Given the description of an element on the screen output the (x, y) to click on. 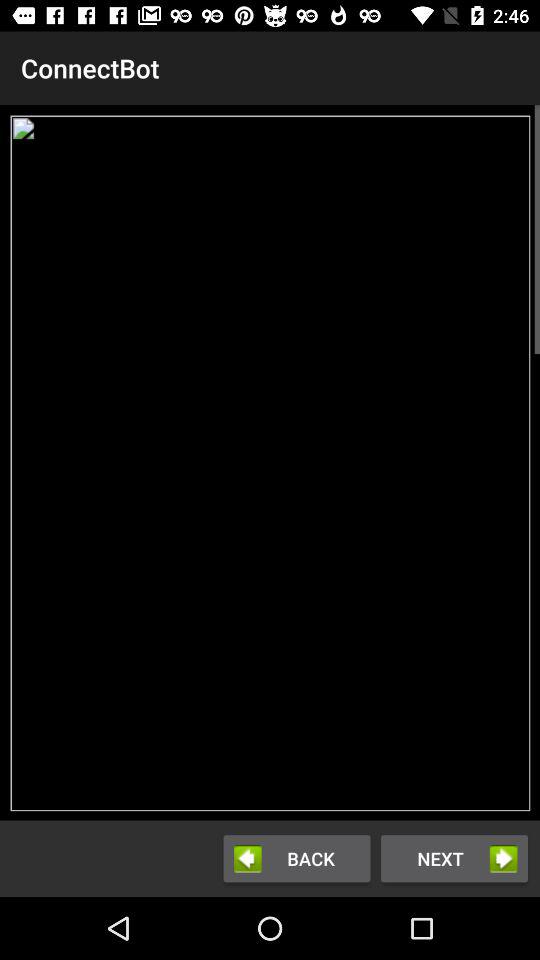
select the icon to the left of the next (296, 858)
